Given the description of an element on the screen output the (x, y) to click on. 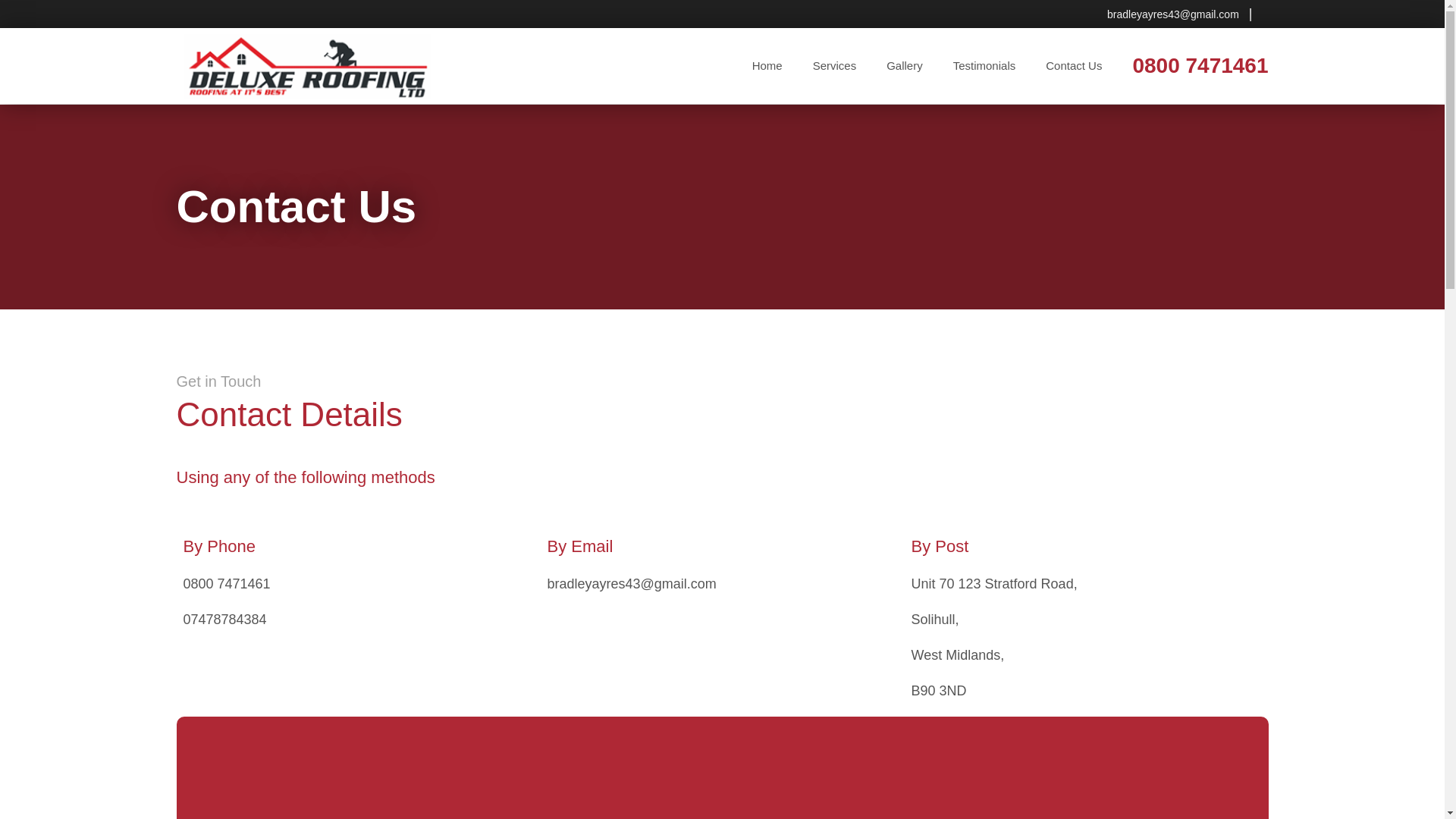
Contact Us (1073, 65)
Services (834, 65)
0800 7471461 (1192, 65)
Testimonials (983, 65)
0800 7471461 (226, 583)
07478784384 (224, 619)
